Given the description of an element on the screen output the (x, y) to click on. 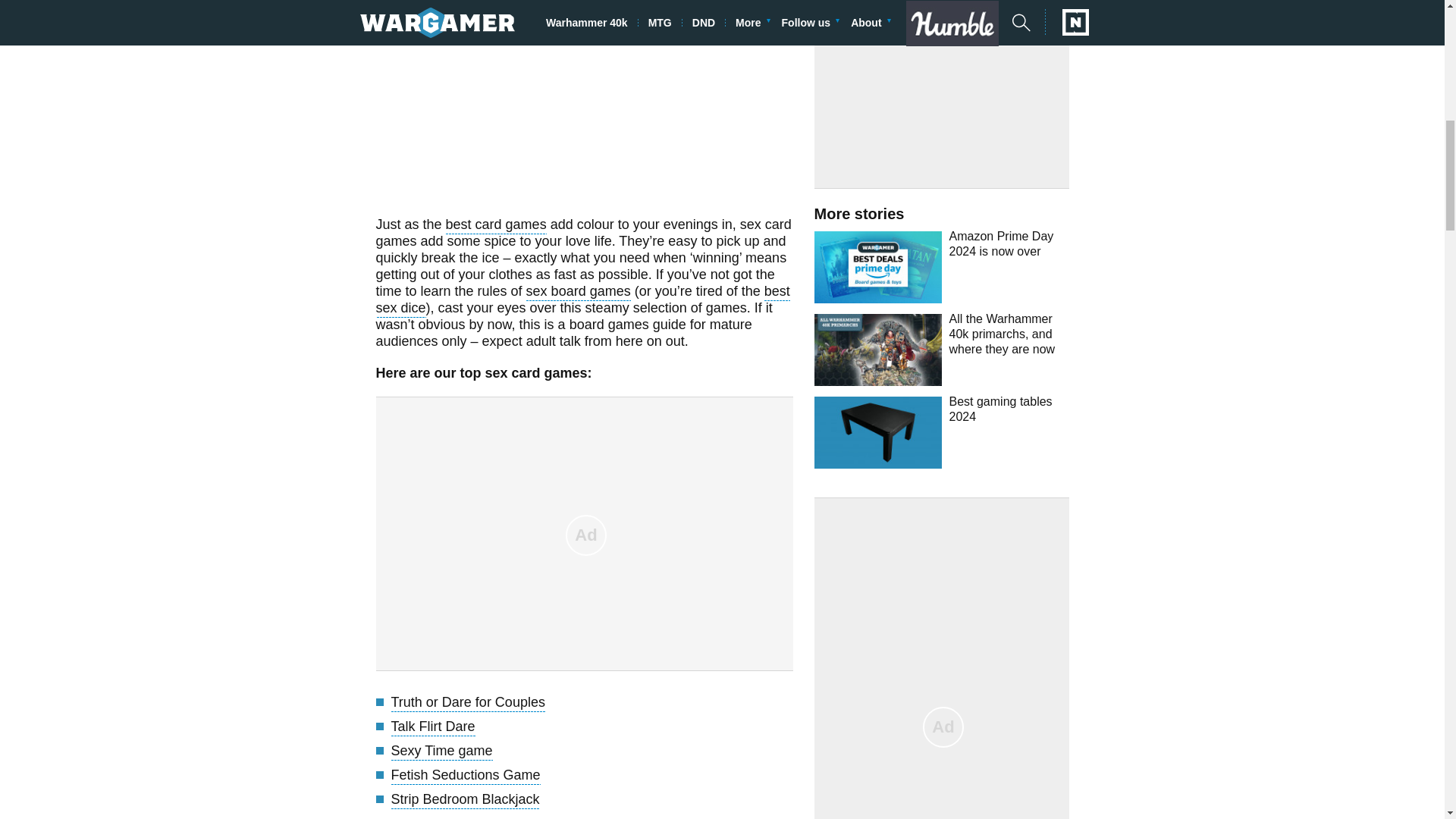
best card games (496, 226)
best sex dice (582, 301)
Truth or Dare for Couples (467, 703)
sex board games (577, 292)
